Given the description of an element on the screen output the (x, y) to click on. 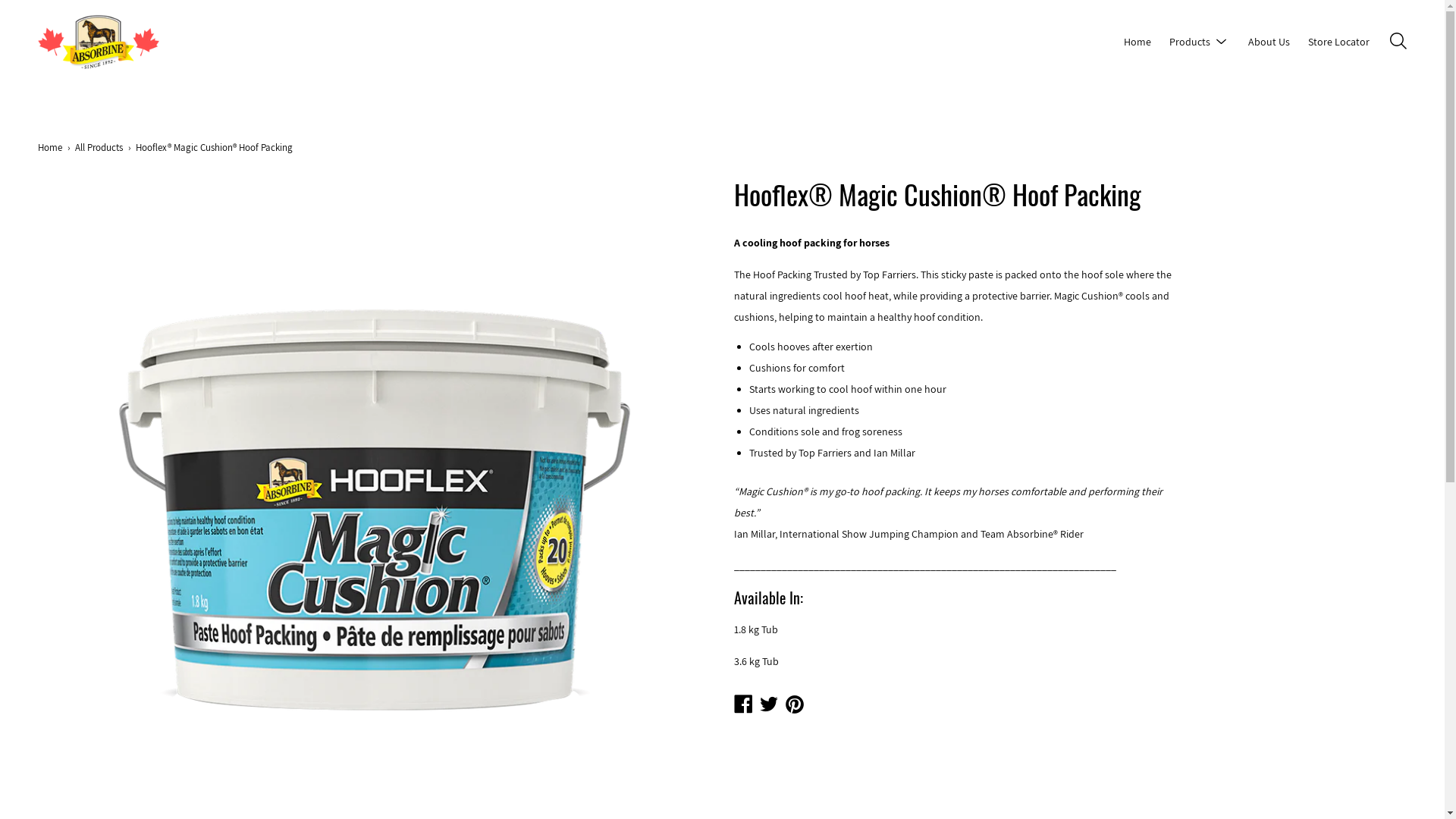
Open search bar Element type: text (1398, 40)
All Products Element type: text (101, 148)
Show submenu Element type: text (1221, 41)
Home Element type: text (1137, 41)
Share on Facebook Element type: text (743, 704)
Share on Twitter Element type: text (768, 704)
About Us Element type: text (1268, 41)
Products Element type: text (1189, 41)
Home Element type: text (52, 148)
Store Locator Element type: text (1338, 41)
Share on Pinterest Element type: text (794, 704)
